Given the description of an element on the screen output the (x, y) to click on. 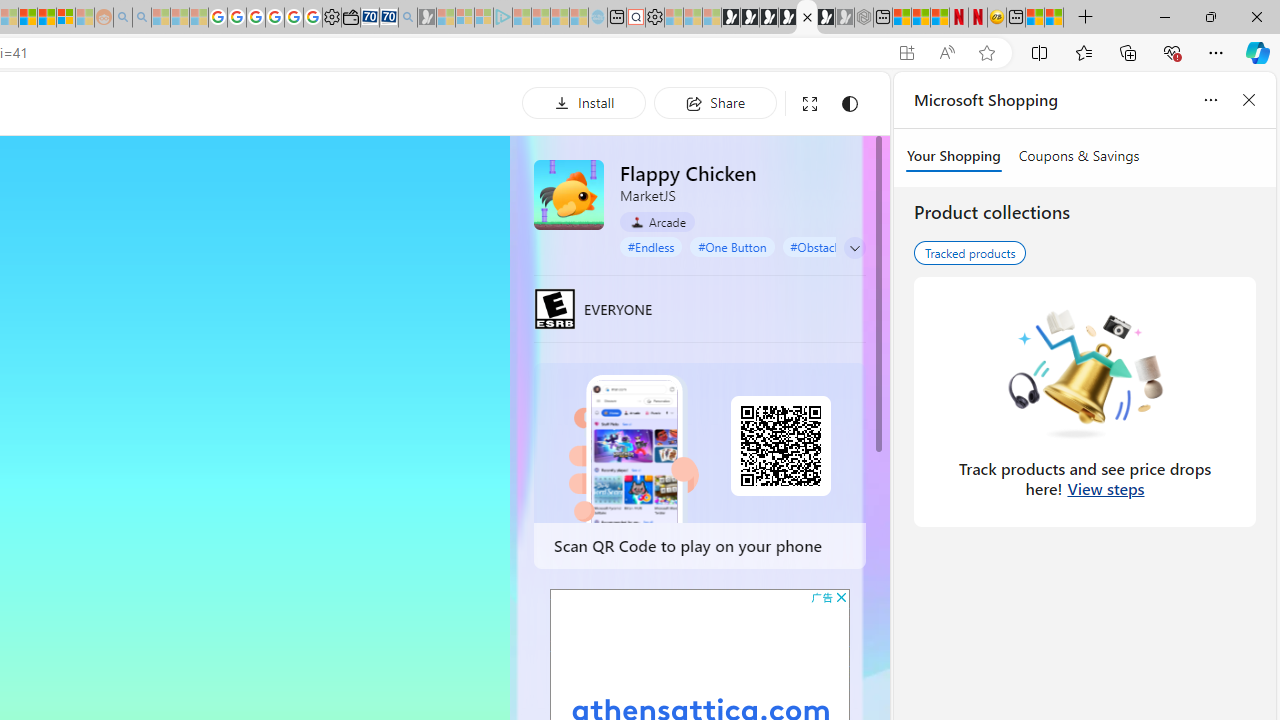
Kinda Frugal - MSN (47, 17)
Class: control (855, 248)
#Obstacle Course (837, 246)
